Given the description of an element on the screen output the (x, y) to click on. 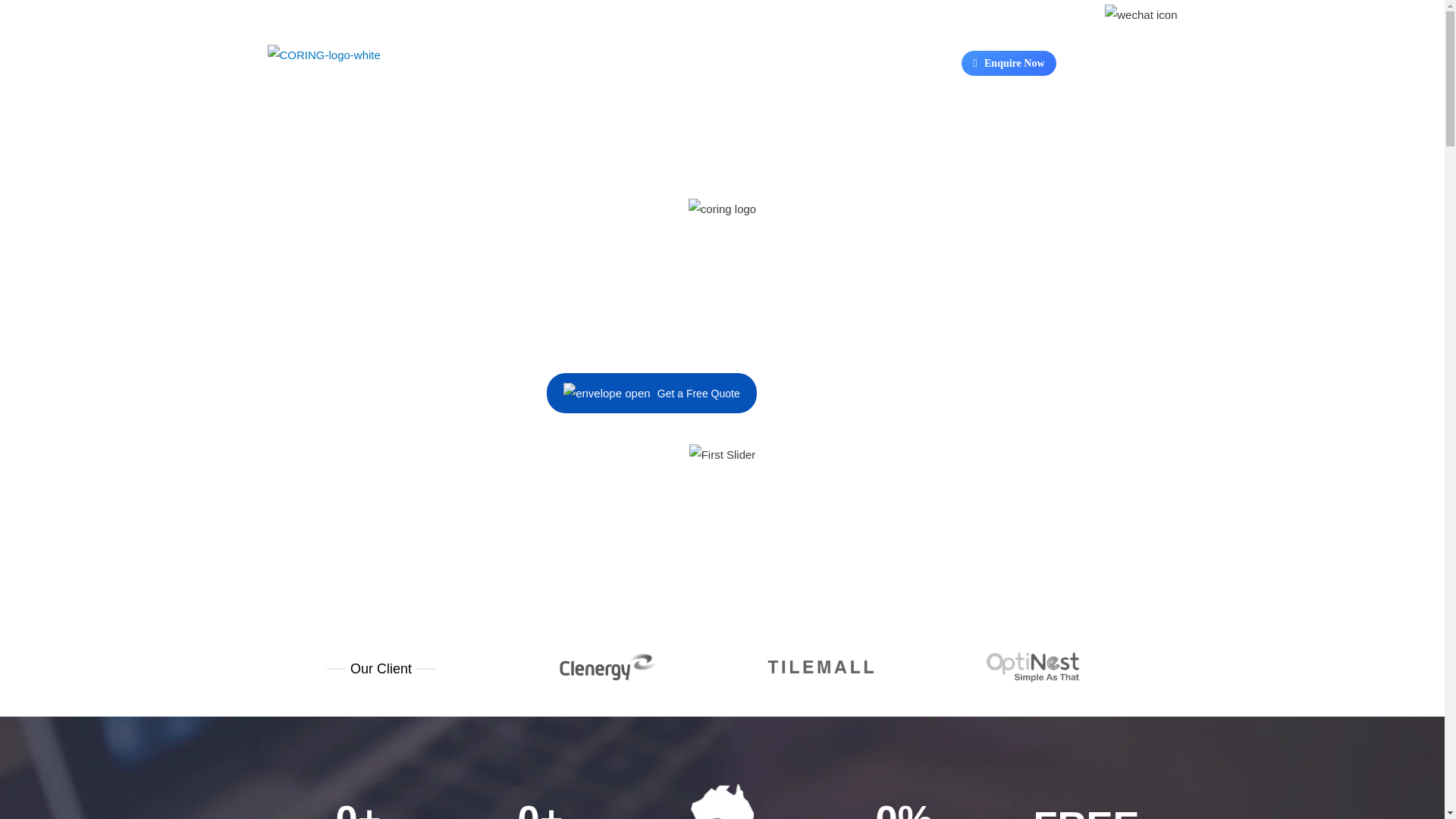
Contact Element type: text (546, 112)
Enquire Now Element type: text (1008, 62)
Home Element type: text (280, 112)
CORING-logo-white Element type: hover (331, 62)
Services Element type: text (338, 112)
See What's Included Element type: text (832, 392)
English Element type: text (1128, 61)
Recent Clients Element type: text (416, 112)
Pricing Element type: text (489, 112)
See What's Included Element type: text (832, 391)
Get a Free Quote Element type: text (651, 393)
